Given the description of an element on the screen output the (x, y) to click on. 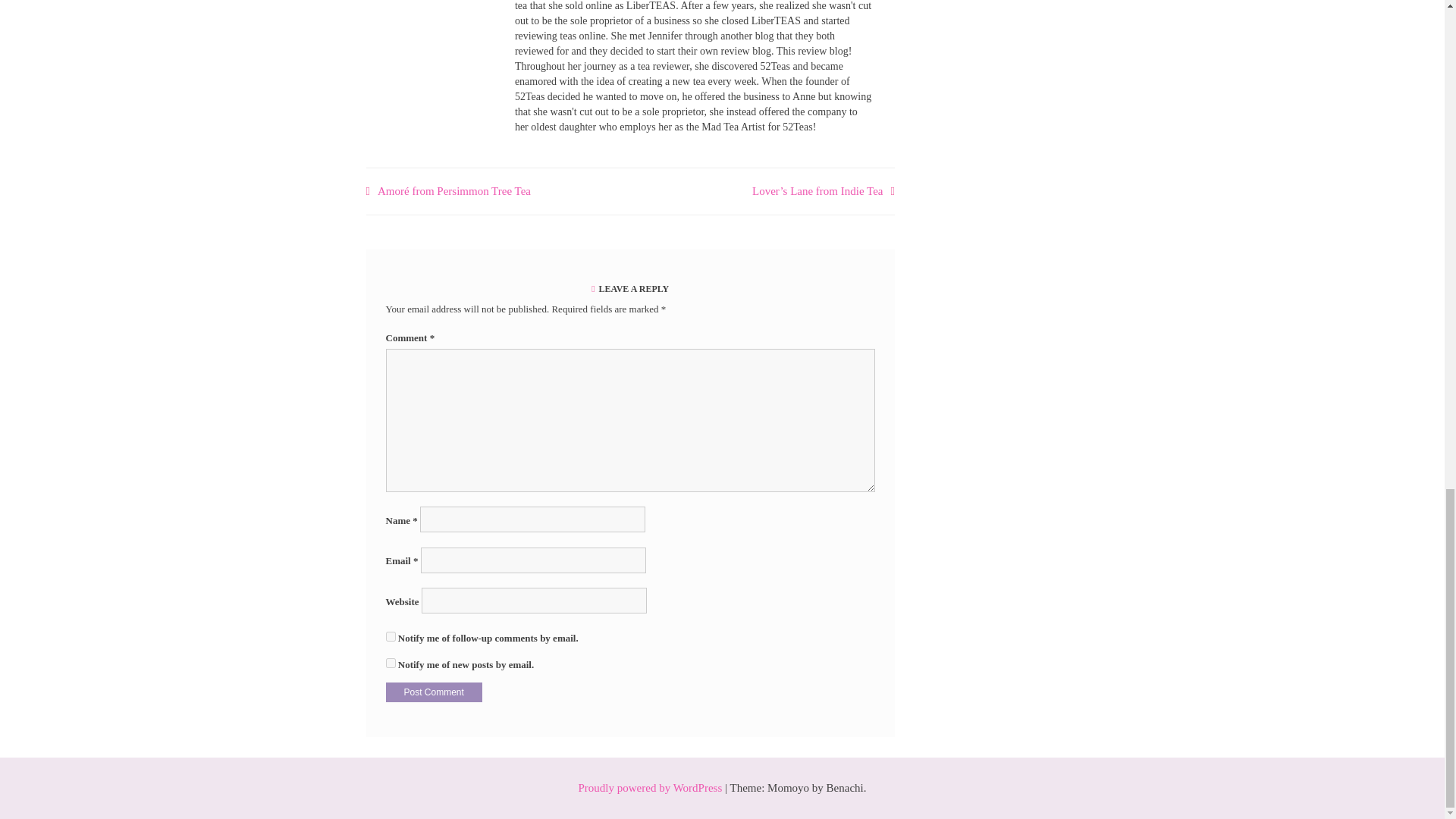
Post Comment (433, 691)
Proudly powered by WordPress (650, 787)
subscribe (389, 663)
subscribe (389, 636)
Post Comment (433, 691)
